Given the description of an element on the screen output the (x, y) to click on. 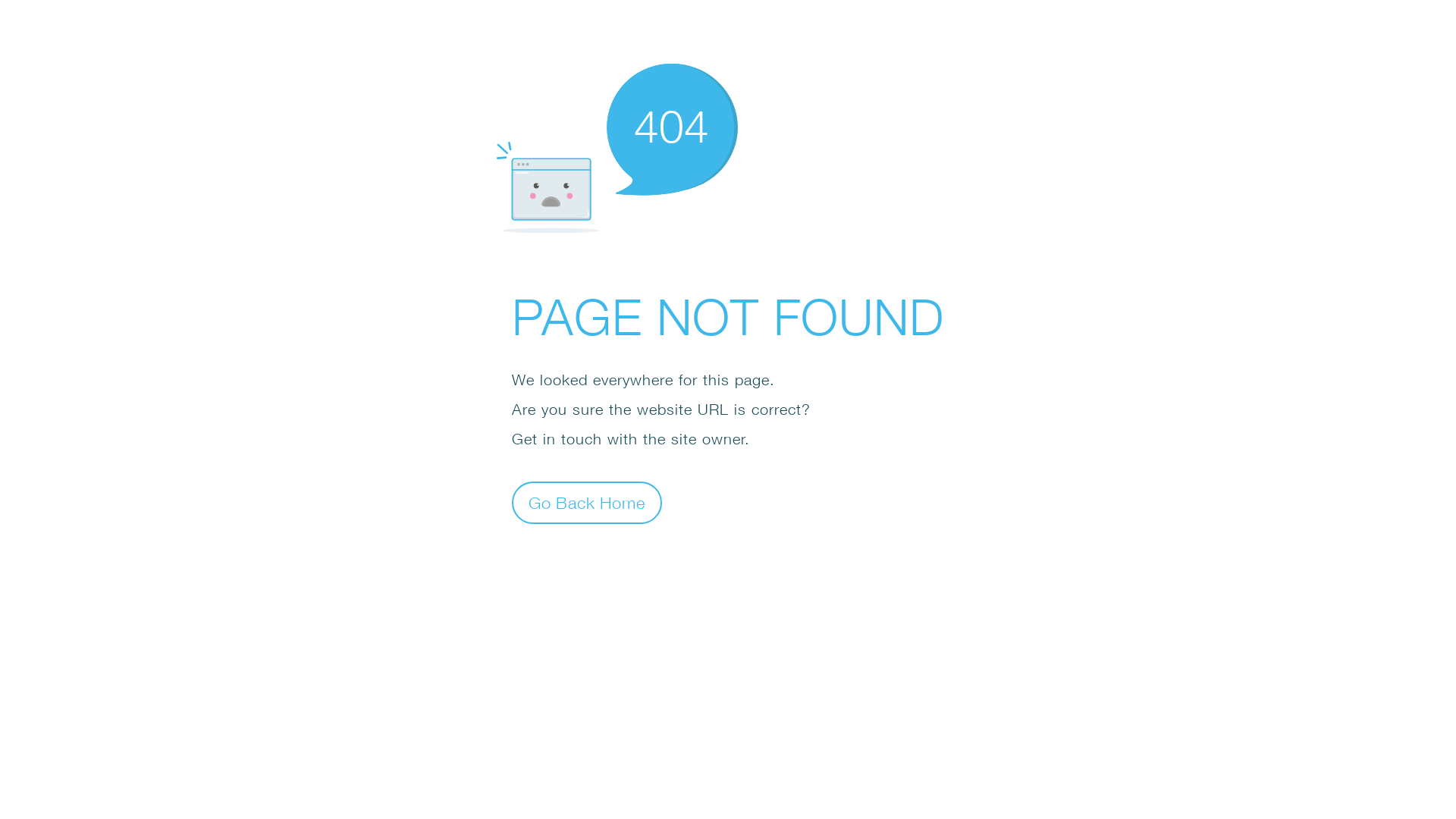
Go Back Home Element type: text (586, 502)
